Given the description of an element on the screen output the (x, y) to click on. 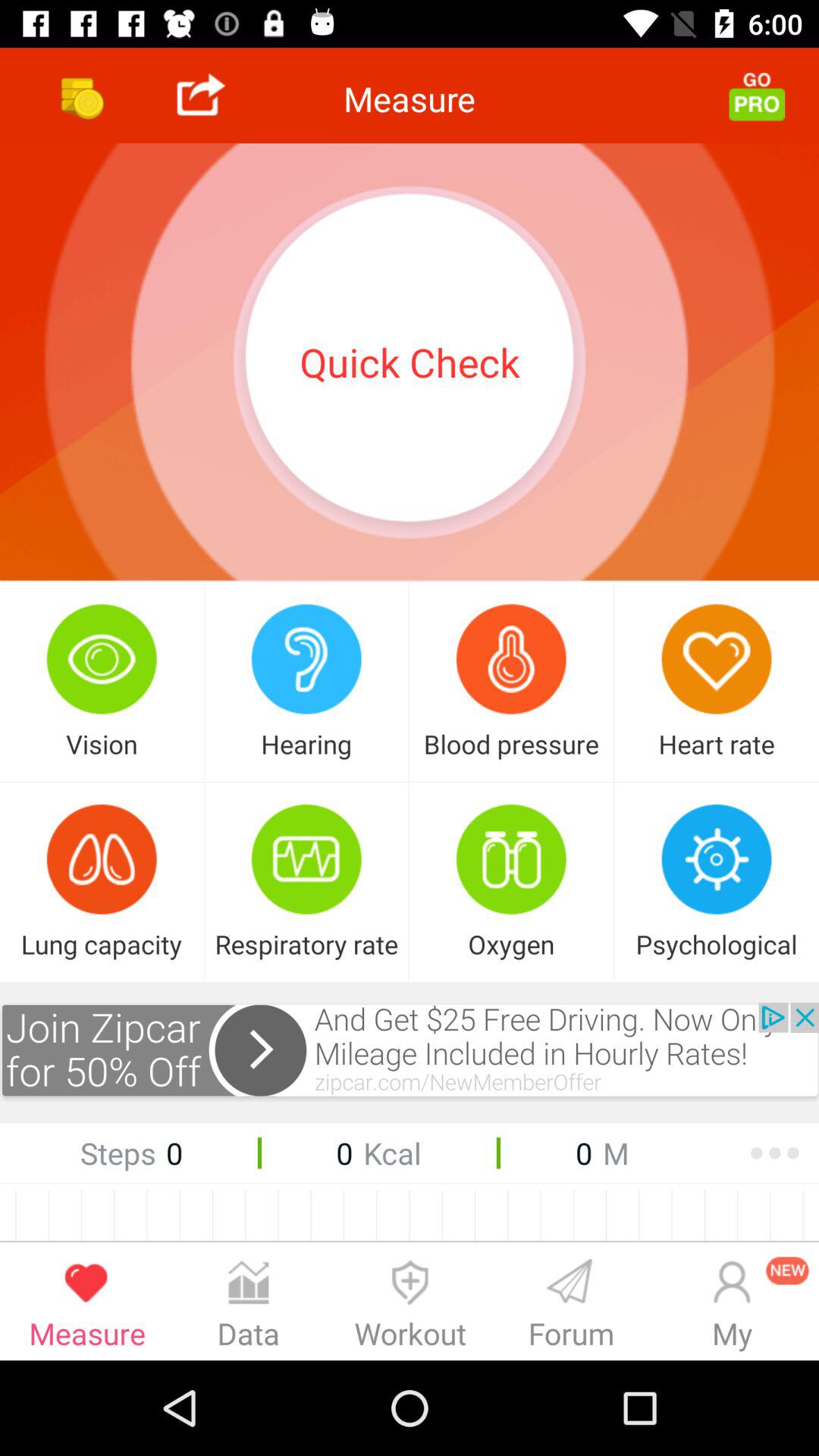
open advertisement (409, 1052)
